Given the description of an element on the screen output the (x, y) to click on. 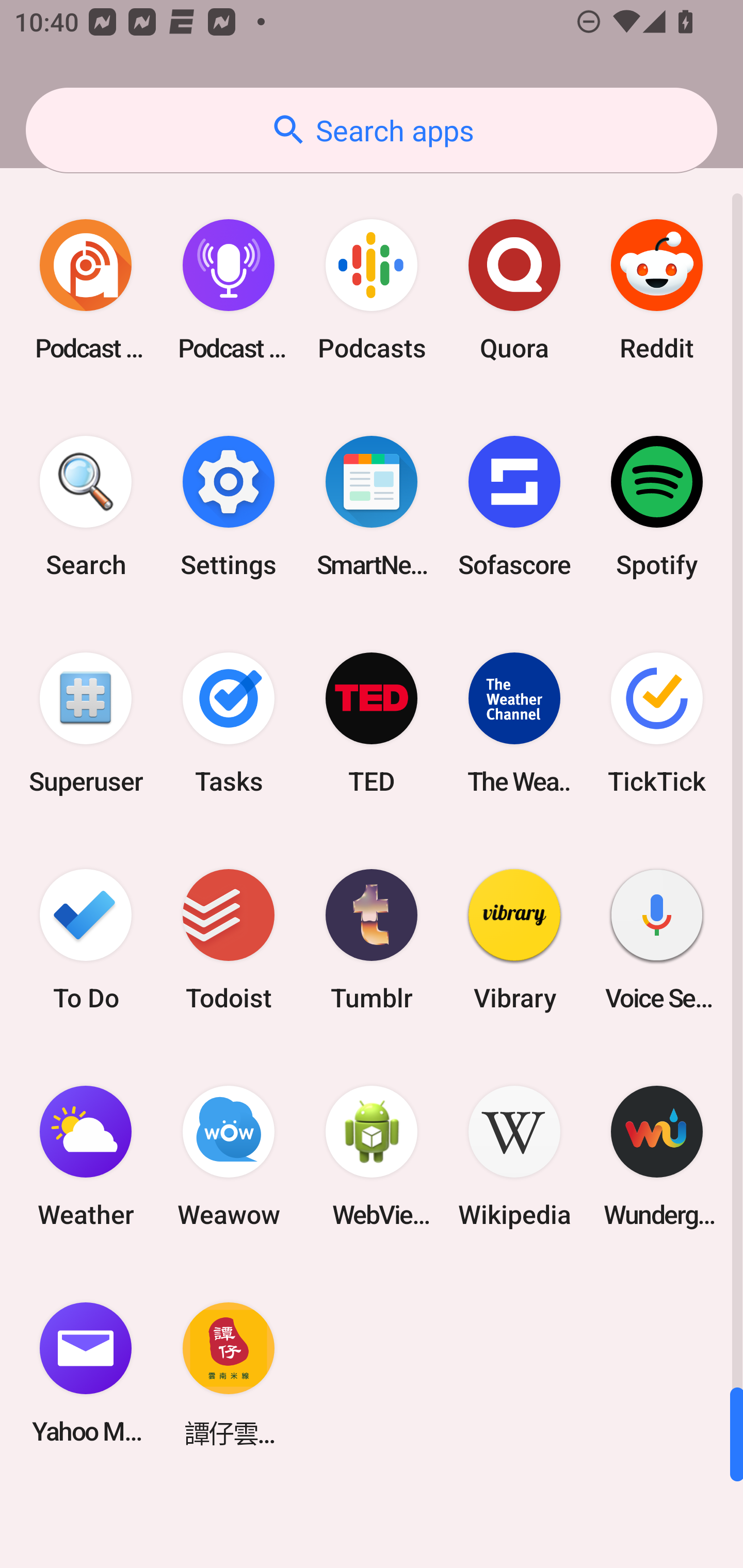
  Search apps (371, 130)
Podcast Addict (85, 289)
Podcast Player (228, 289)
Podcasts (371, 289)
Quora (514, 289)
Reddit (656, 289)
Search (85, 506)
Settings (228, 506)
SmartNews (371, 506)
Sofascore (514, 506)
Spotify (656, 506)
Superuser (85, 722)
Tasks (228, 722)
TED (371, 722)
The Weather Channel (514, 722)
TickTick (656, 722)
To Do (85, 939)
Todoist (228, 939)
Tumblr (371, 939)
Vibrary (514, 939)
Voice Search (656, 939)
Weather (85, 1156)
Weawow (228, 1156)
WebView Browser Tester (371, 1156)
Wikipedia (514, 1156)
Wunderground (656, 1156)
Yahoo Mail (85, 1373)
譚仔雲南米線 (228, 1373)
